Given the description of an element on the screen output the (x, y) to click on. 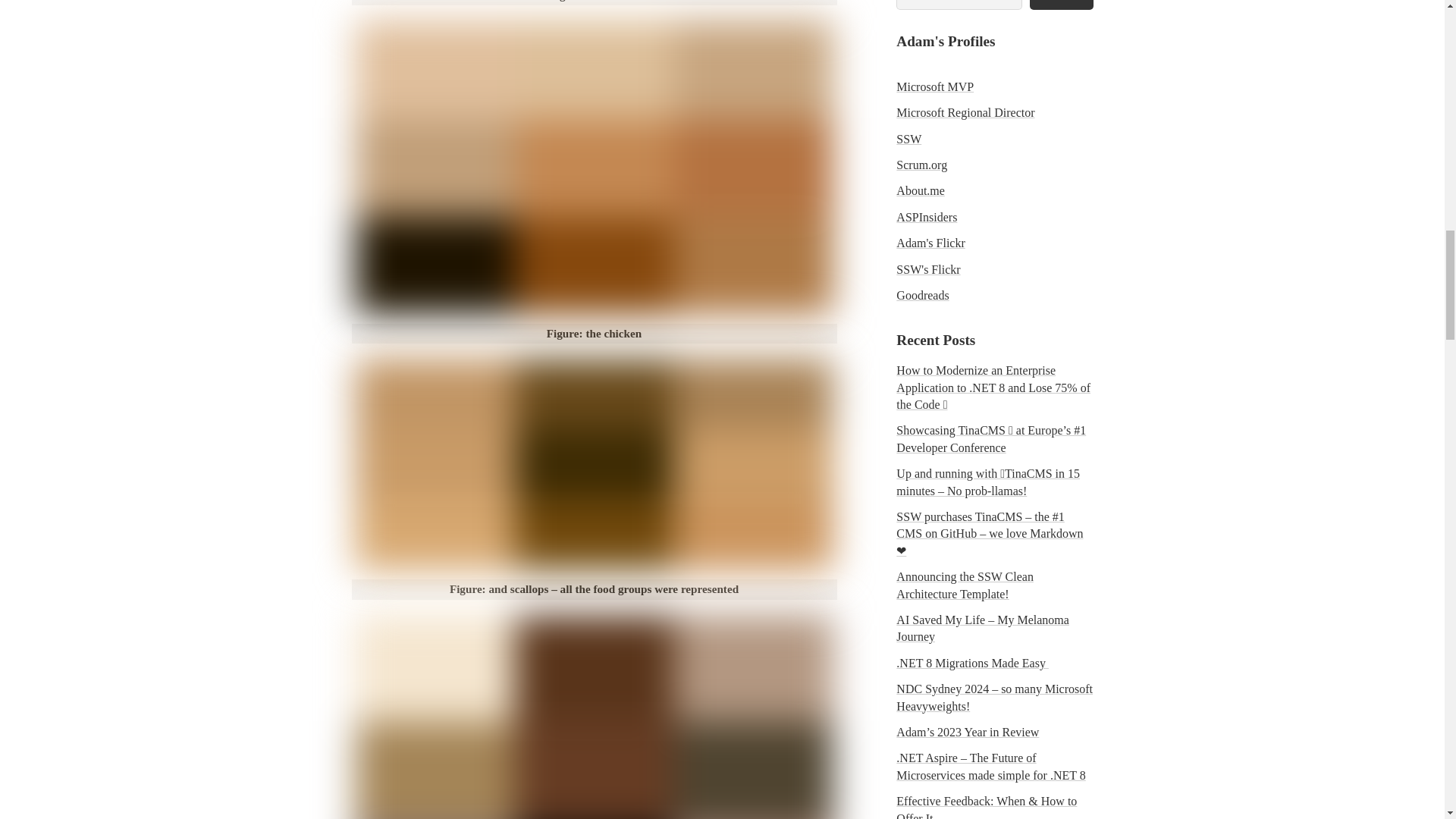
Microsoft MVP (935, 86)
SSW (908, 138)
About.me (920, 190)
Microsoft Regional Director (964, 112)
ASPInsiders (926, 216)
Adam's Flickr (929, 242)
Scrum.org (921, 164)
Search (1061, 4)
